Given the description of an element on the screen output the (x, y) to click on. 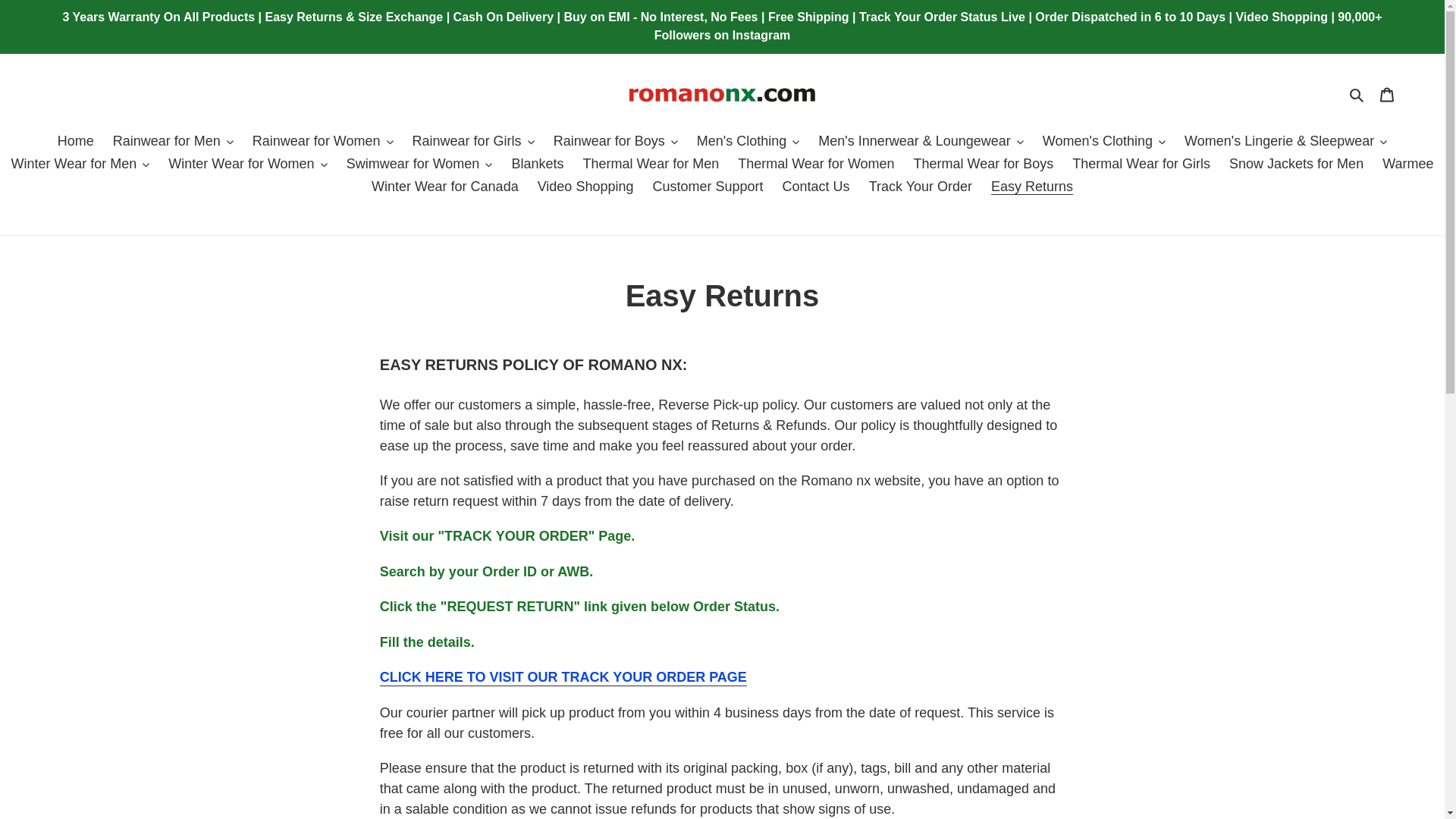
Search (1357, 94)
Cart (1387, 94)
